Given the description of an element on the screen output the (x, y) to click on. 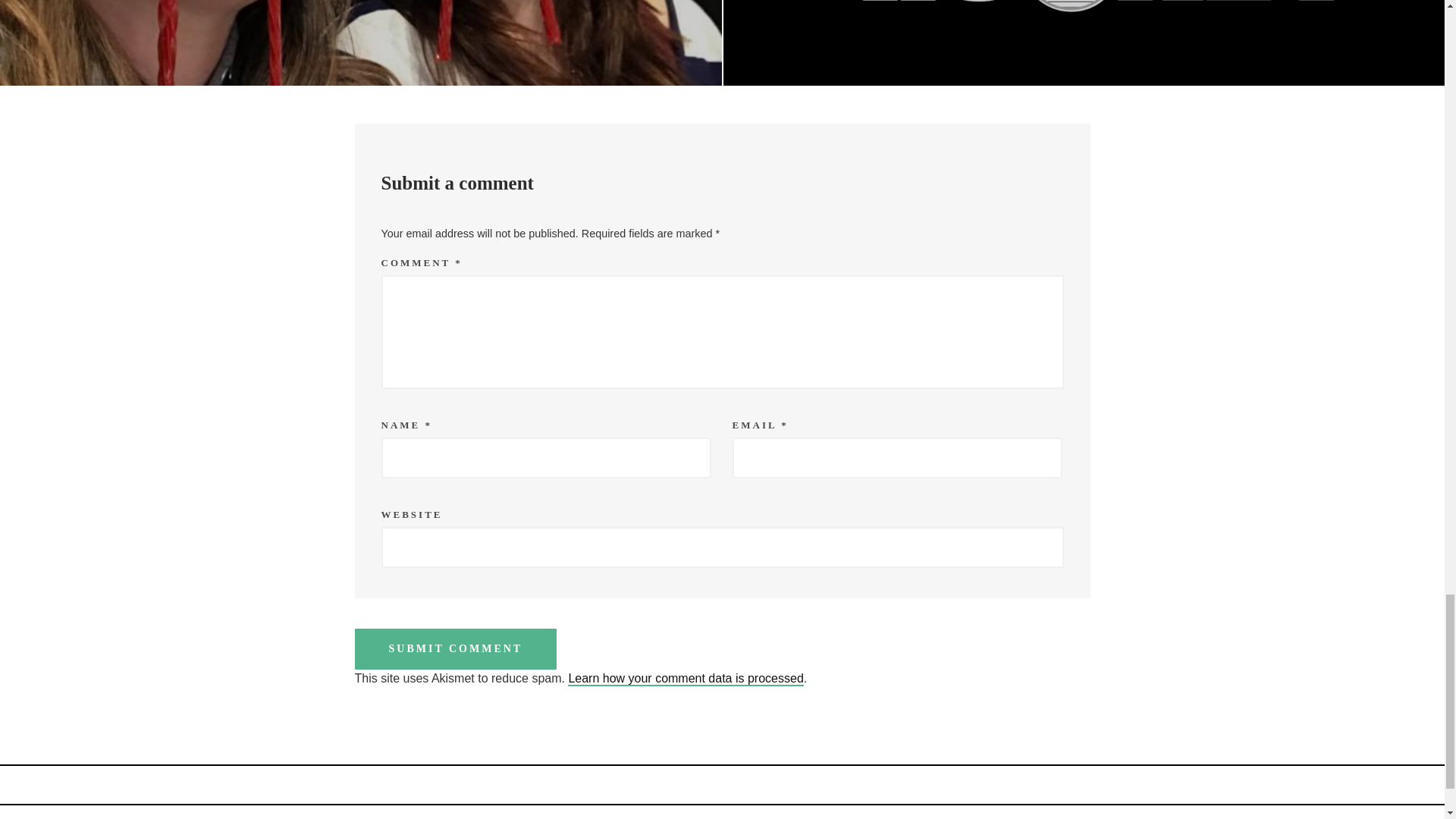
Submit comment (456, 648)
